Given the description of an element on the screen output the (x, y) to click on. 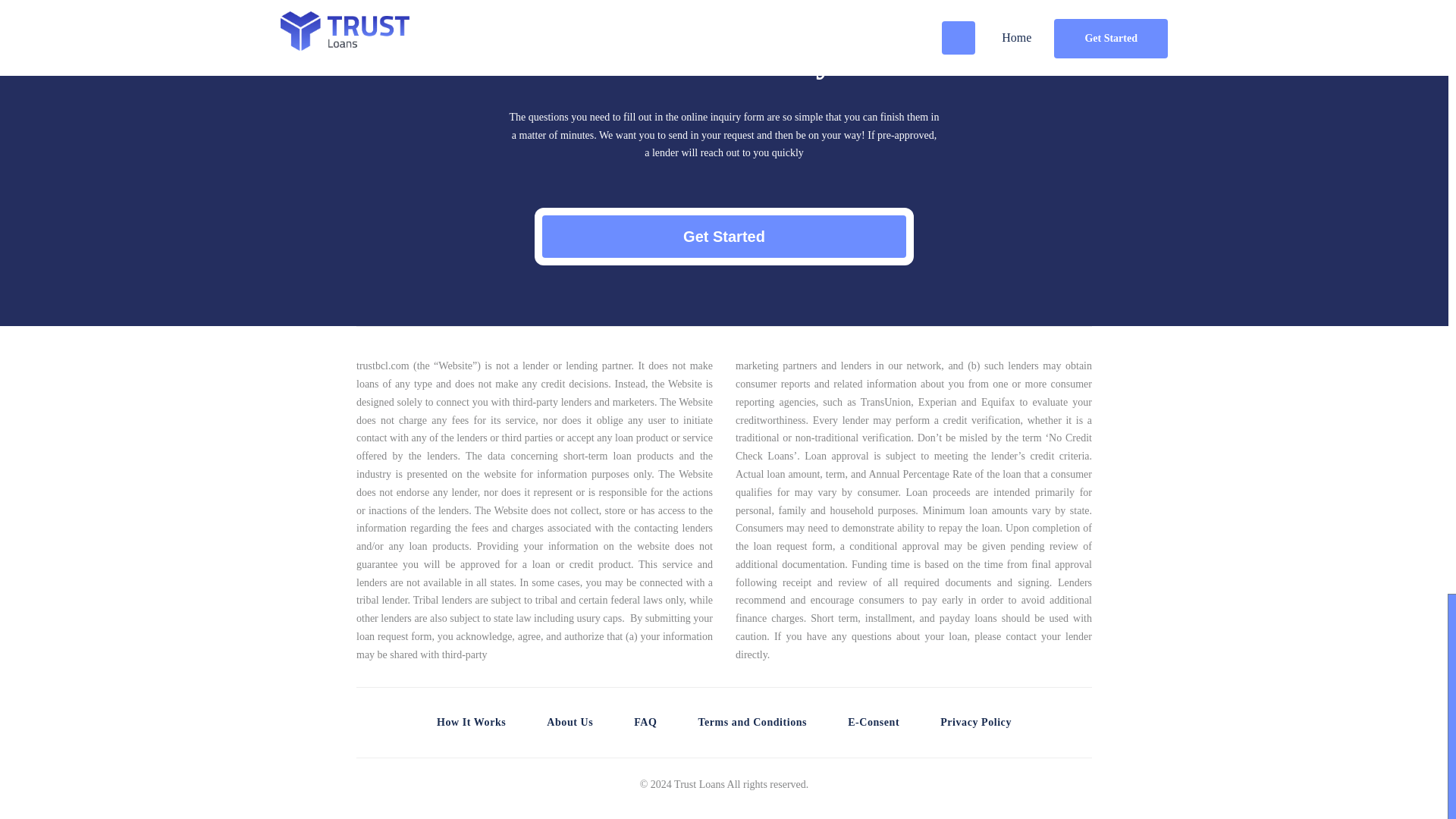
About Us (569, 722)
E-Consent (873, 722)
Privacy Policy (975, 722)
Terms and Conditions (751, 722)
Get Started (723, 236)
How It Works (470, 722)
